Given the description of an element on the screen output the (x, y) to click on. 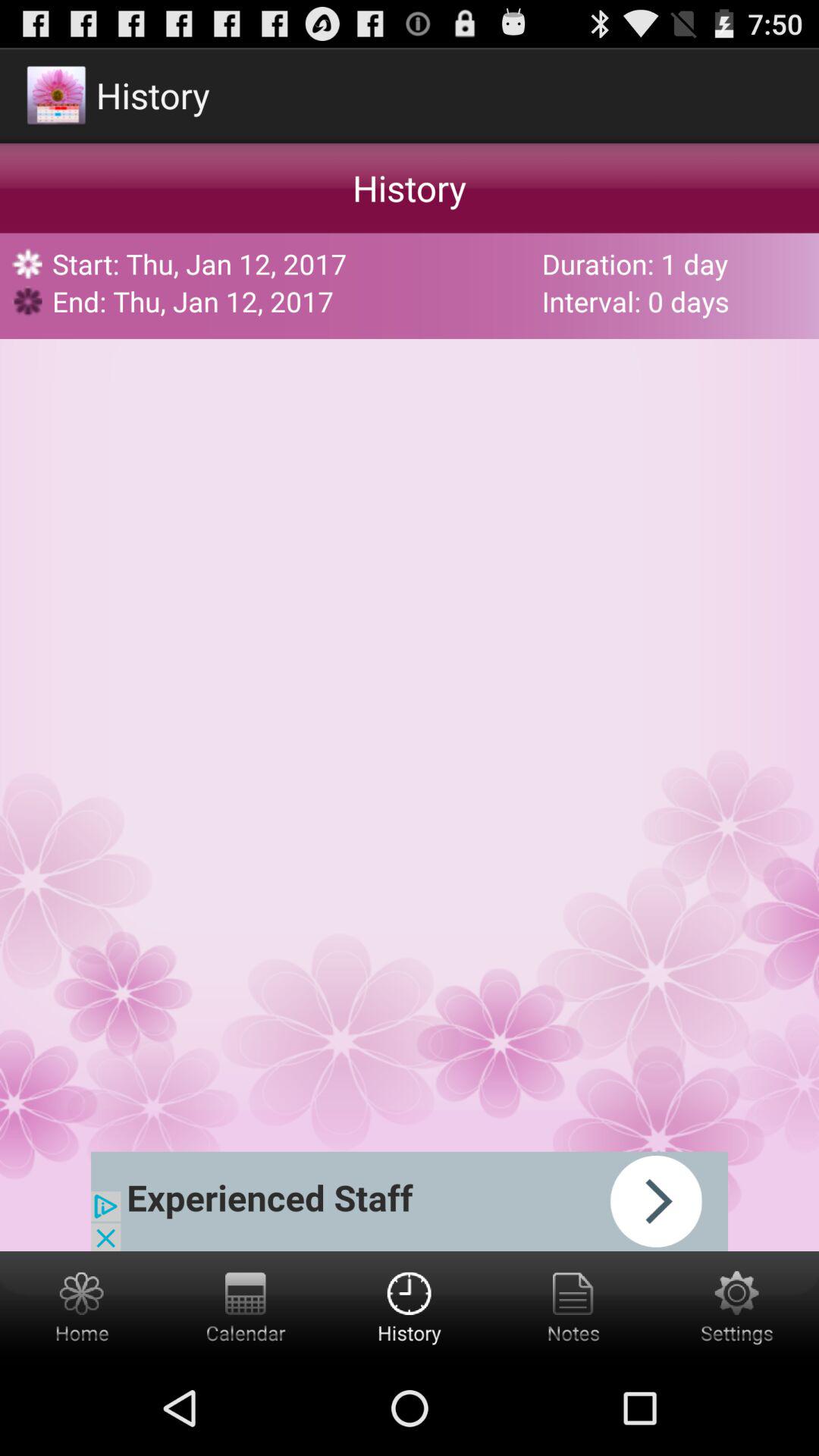
go to app home (81, 1305)
